Given the description of an element on the screen output the (x, y) to click on. 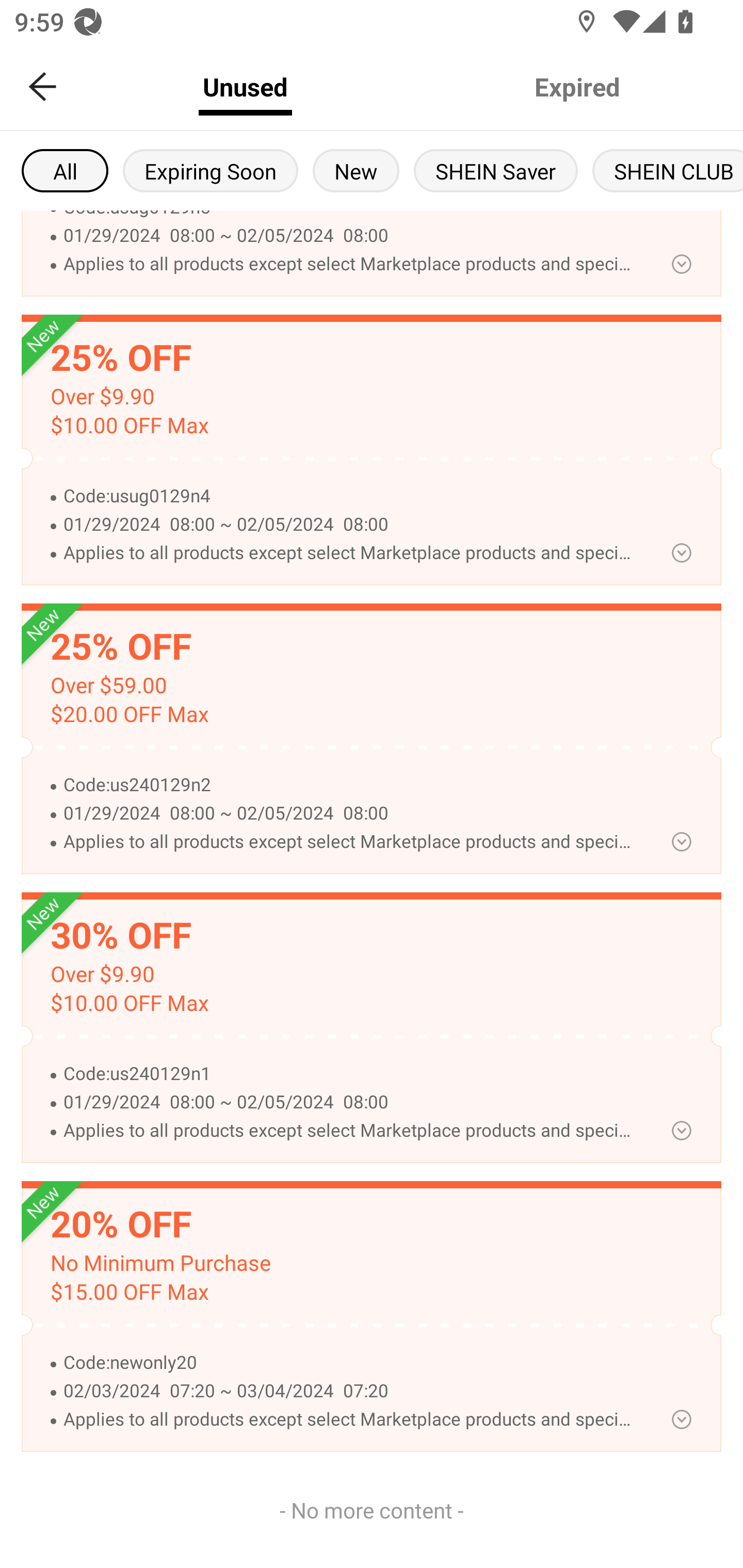
Unused (244, 86)
Expired (576, 86)
All (64, 170)
Expiring Soon (209, 170)
New (355, 170)
SHEIN Saver (495, 170)
SHEIN CLUB (667, 170)
01/29/2024  08:00 ~ 02/05/2024  08:00 (350, 235)
Pack up (681, 264)
$10.00 OFF Max (129, 425)
Code:usug0129n4 (350, 496)
01/29/2024  08:00 ~ 02/05/2024  08:00 (350, 524)
Pack up (681, 552)
$20.00 OFF Max (129, 714)
Code:us240129n2 (350, 785)
01/29/2024  08:00 ~ 02/05/2024  08:00 (350, 813)
Pack up (681, 841)
$10.00 OFF Max (129, 1003)
Code:us240129n1 (350, 1074)
01/29/2024  08:00 ~ 02/05/2024  08:00 (350, 1102)
Pack up (681, 1130)
$15.00 OFF Max (129, 1291)
Code:newonly20 (350, 1362)
02/03/2024  07:20 ~ 03/04/2024  07:20 (350, 1391)
Pack up (681, 1418)
